Given the description of an element on the screen output the (x, y) to click on. 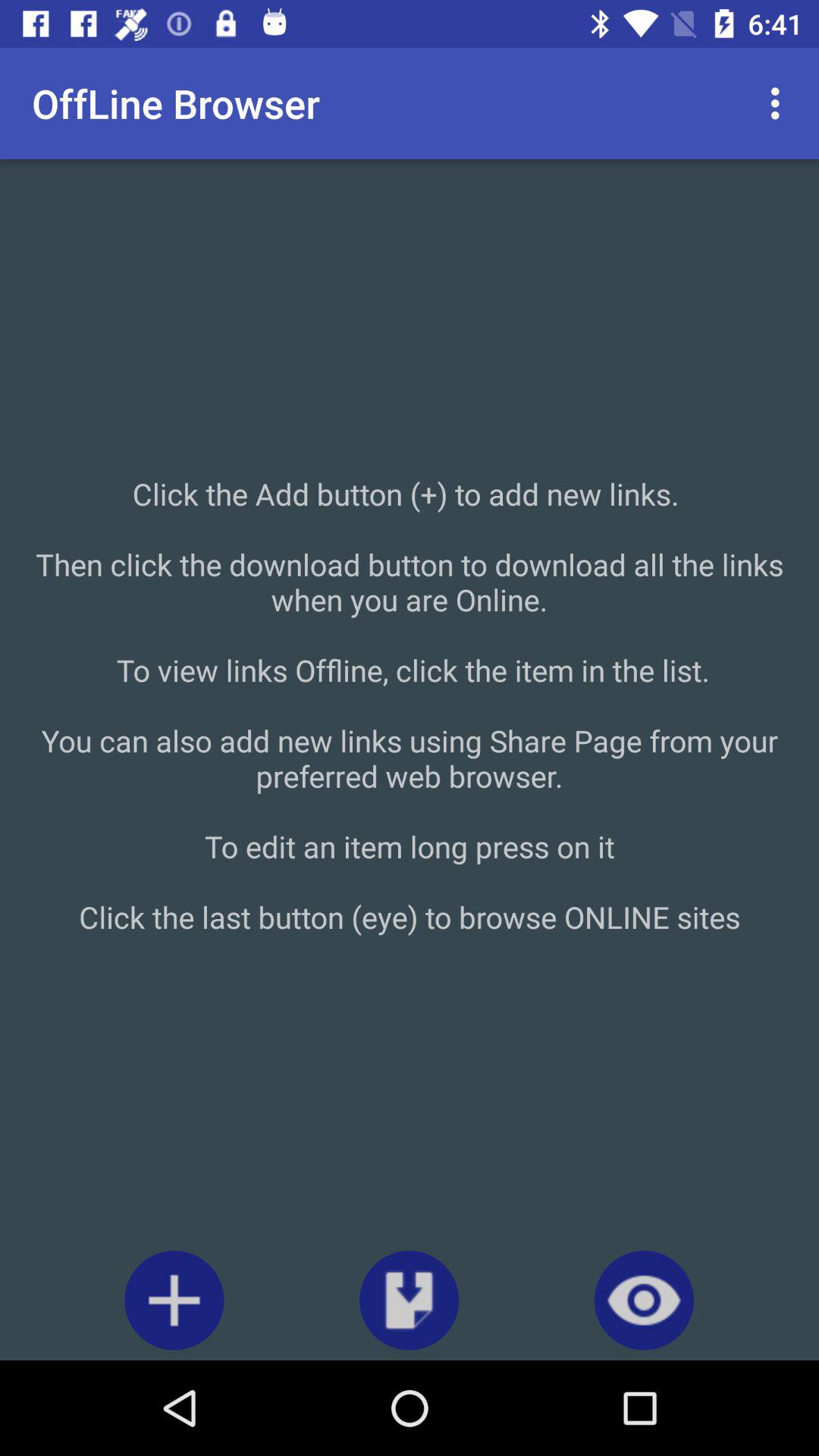
launch app below the click the add (643, 1300)
